Given the description of an element on the screen output the (x, y) to click on. 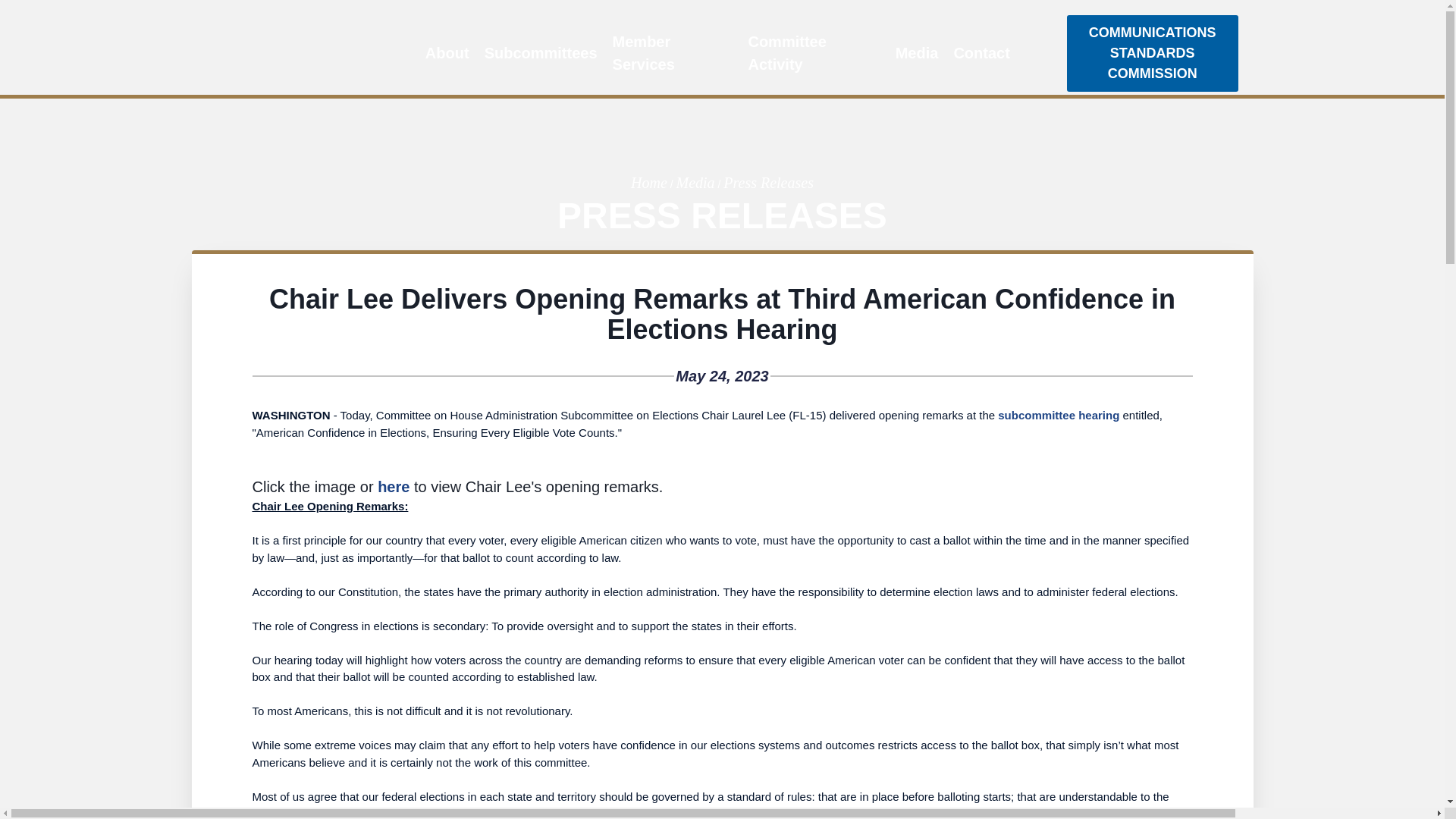
Search (1036, 53)
Contact (980, 52)
About (447, 52)
Member Services (673, 52)
Subcommittees (541, 52)
Media (917, 52)
Committee Activity (812, 52)
